Given the description of an element on the screen output the (x, y) to click on. 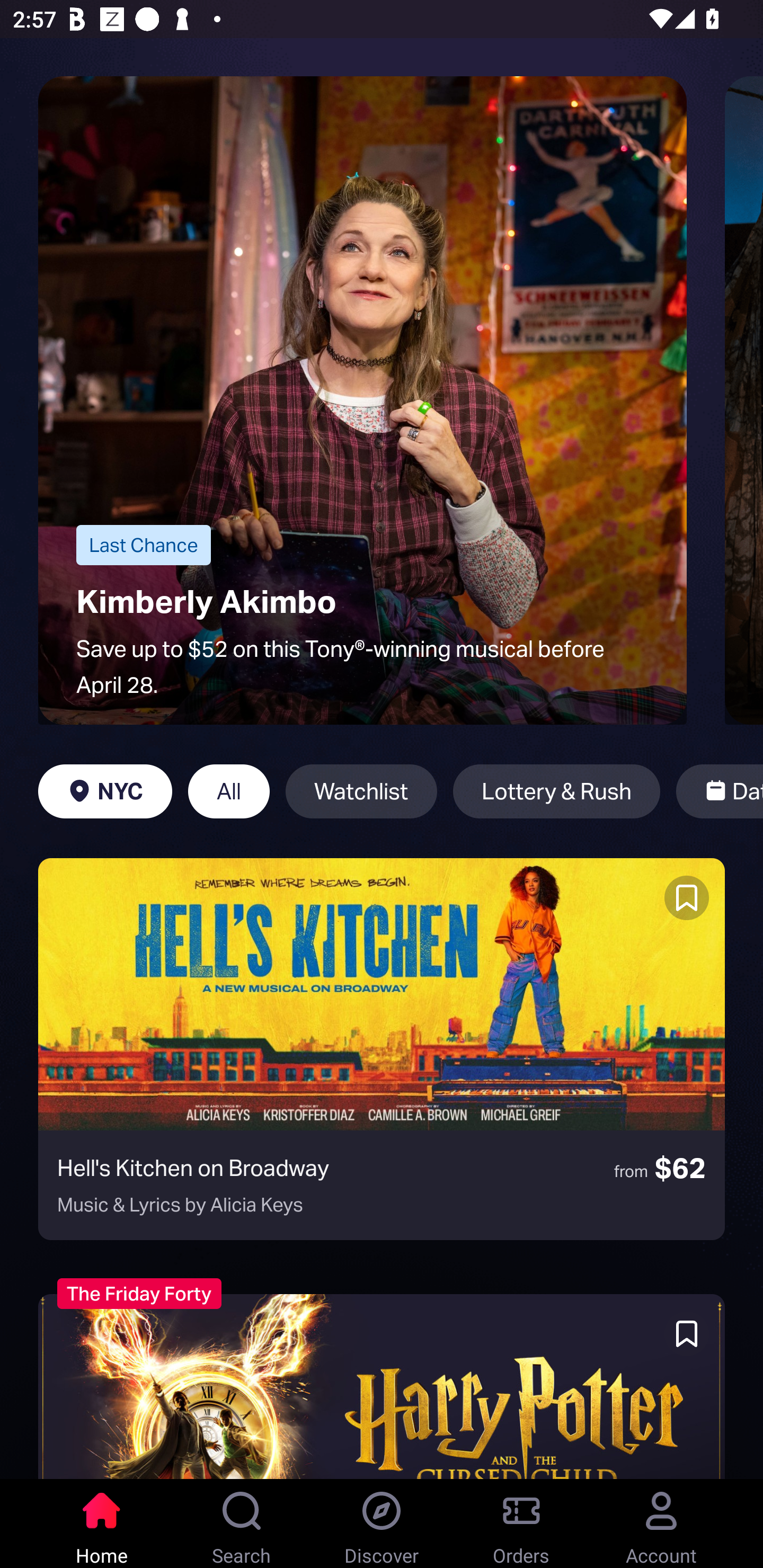
NYC (105, 791)
All (228, 791)
Watchlist (361, 791)
Lottery & Rush (556, 791)
Search (241, 1523)
Discover (381, 1523)
Orders (521, 1523)
Account (660, 1523)
